Given the description of an element on the screen output the (x, y) to click on. 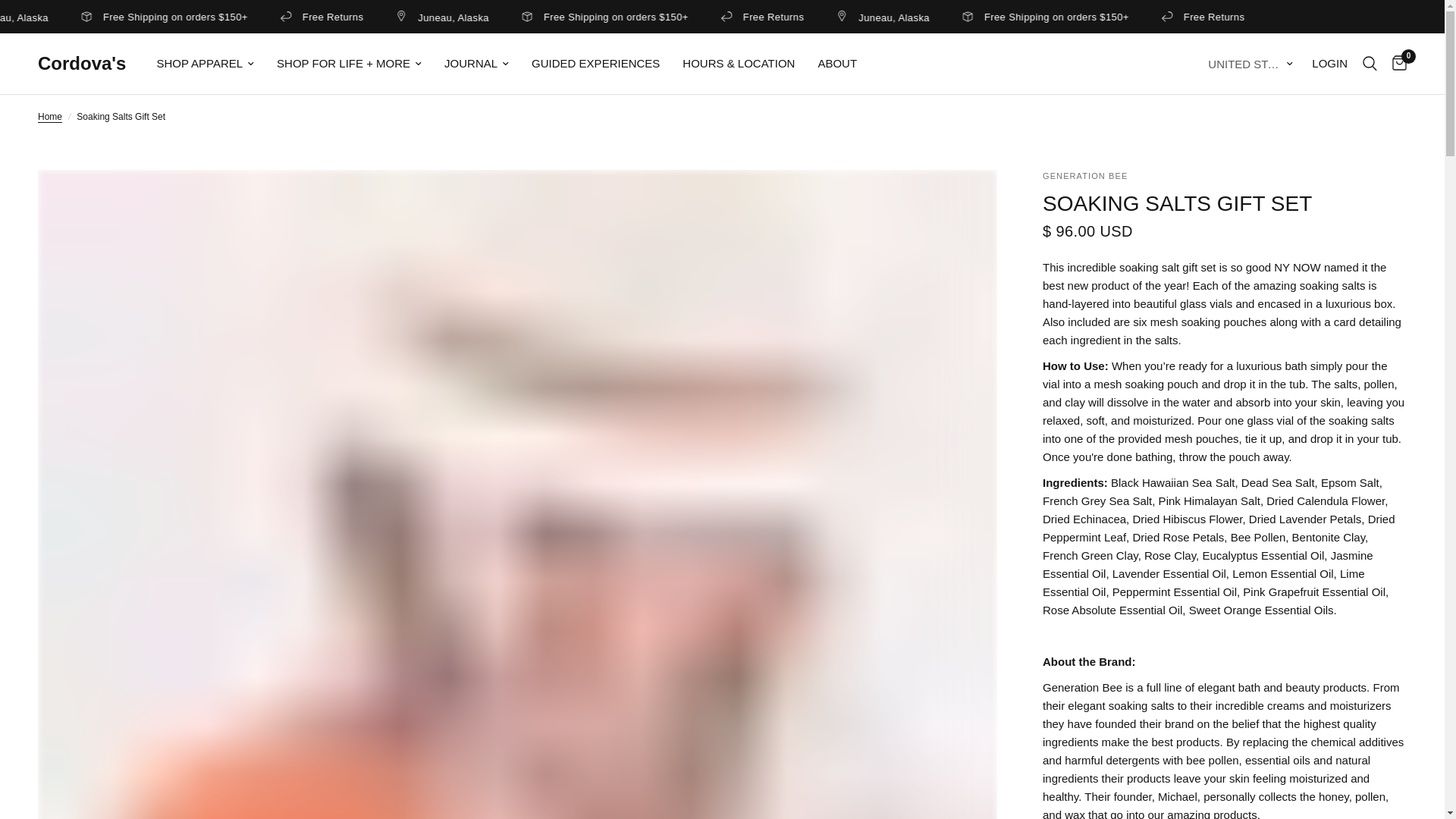
Juneau, Alaska (92, 16)
Juneau, Alaska (972, 16)
Juneau, Alaska (531, 16)
